Given the description of an element on the screen output the (x, y) to click on. 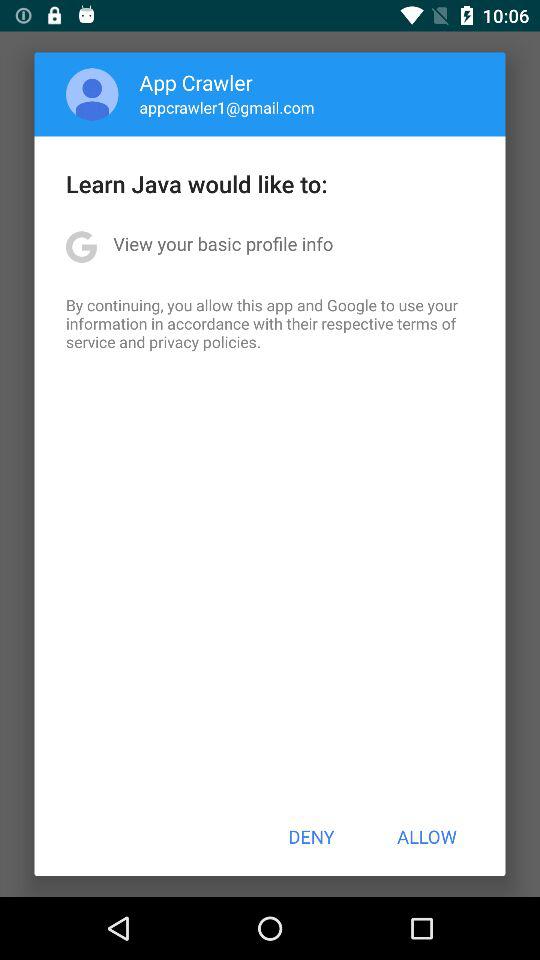
flip until the app crawler app (195, 82)
